Given the description of an element on the screen output the (x, y) to click on. 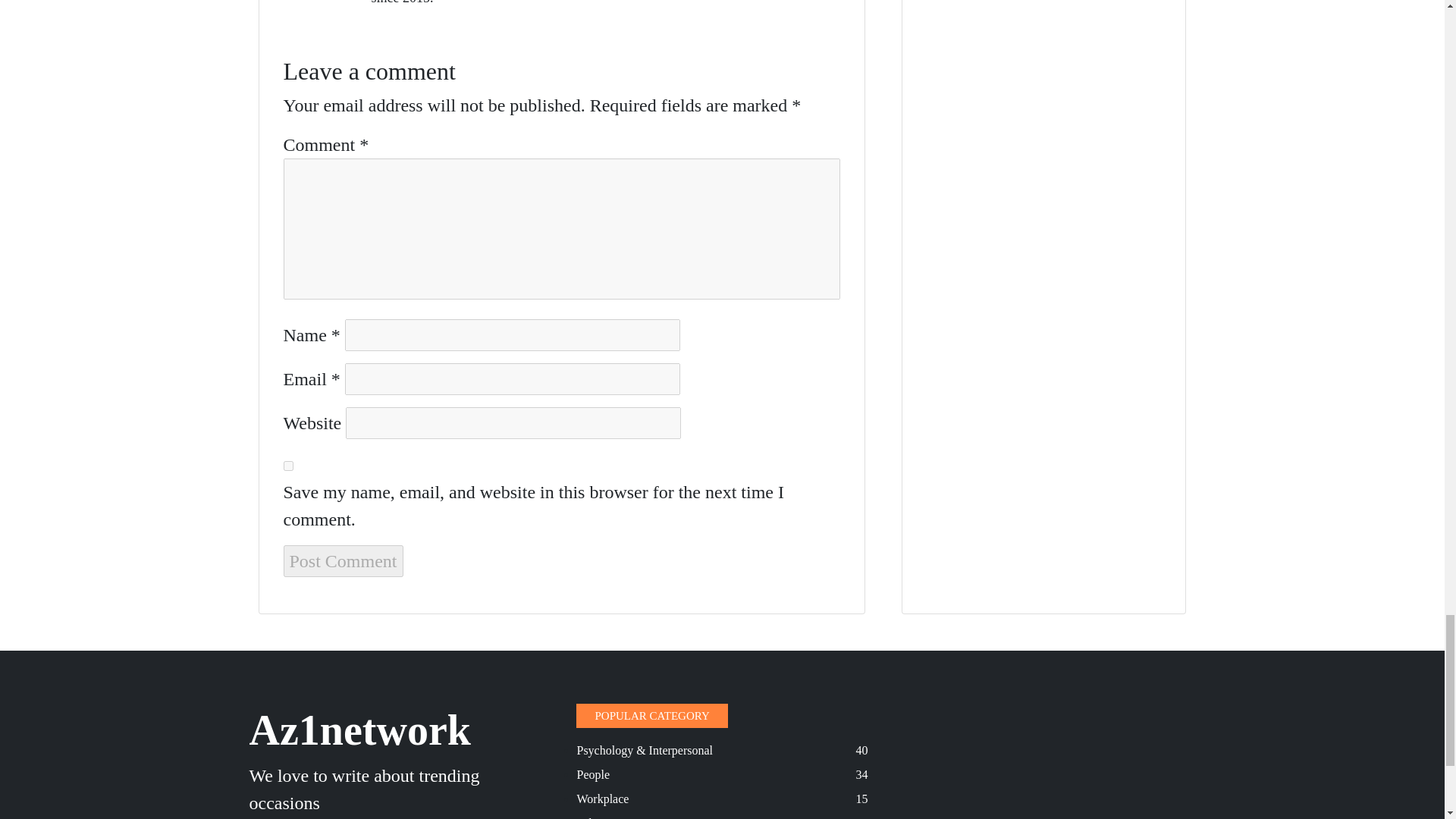
Post Comment (343, 561)
yes (288, 465)
Post Comment (343, 561)
